Given the description of an element on the screen output the (x, y) to click on. 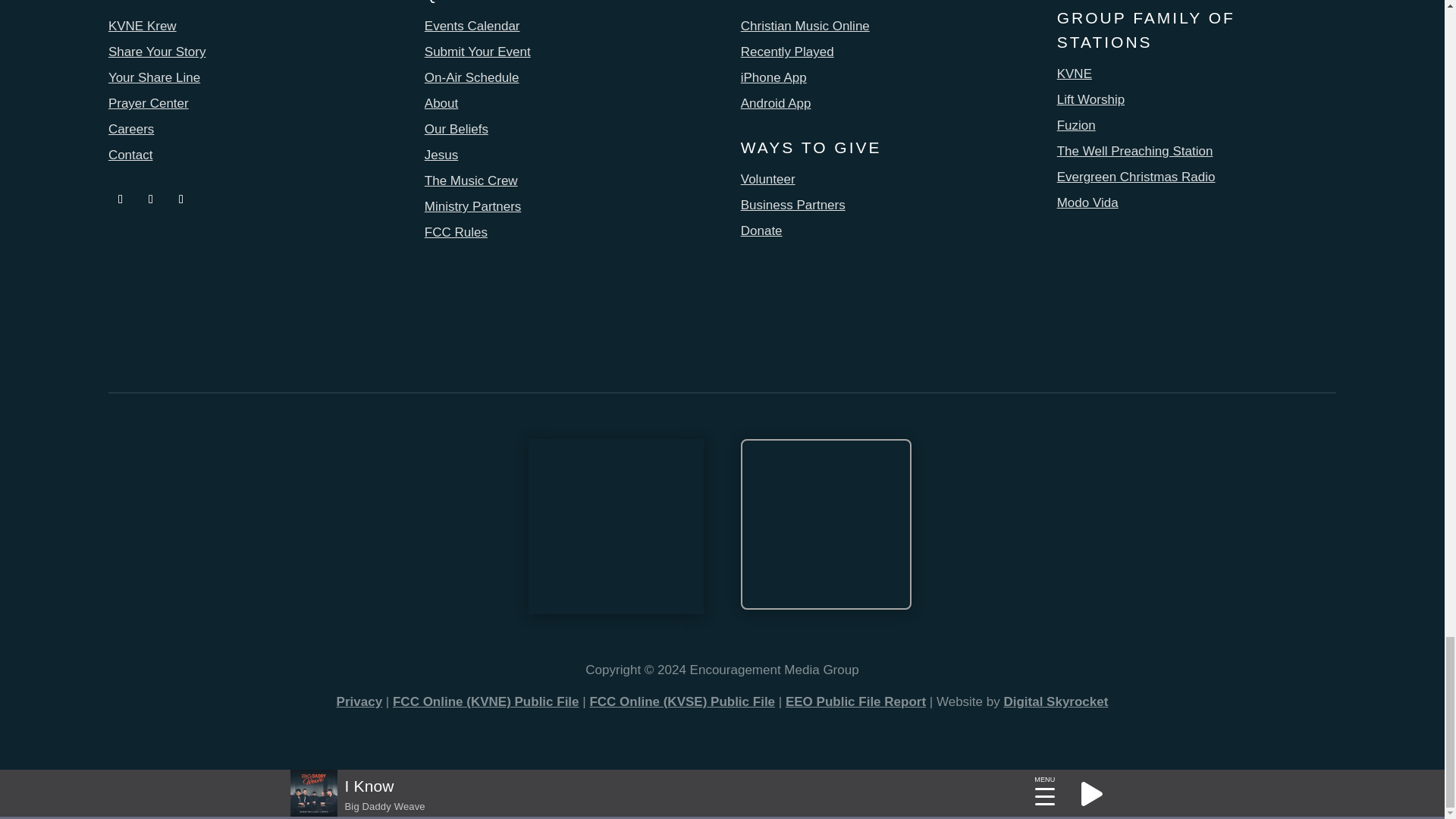
Follow on Instagram (150, 199)
Follow on Vimeo (180, 199)
Follow on Facebook (119, 199)
